Given the description of an element on the screen output the (x, y) to click on. 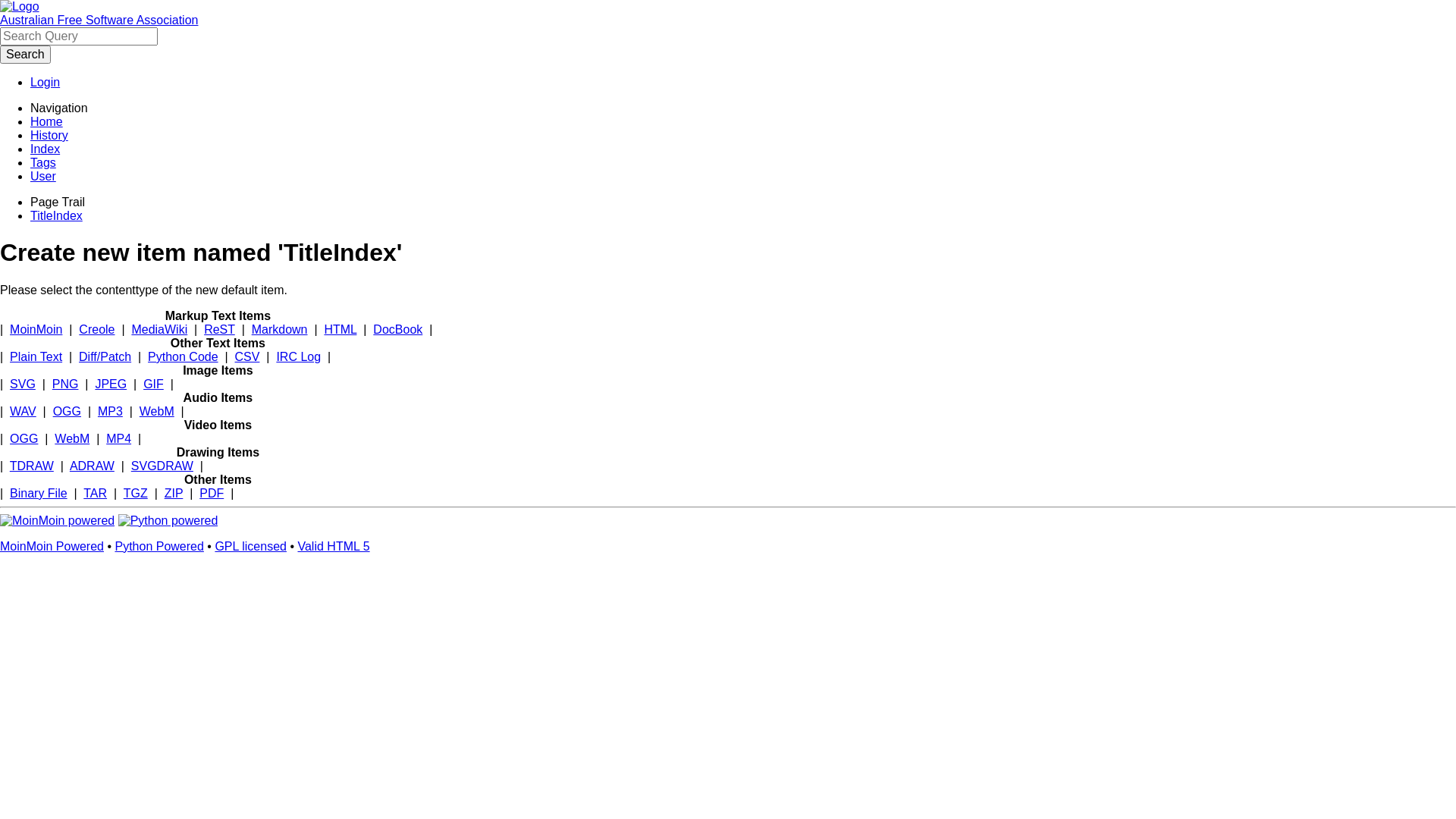
Valid HTML 5 Element type: text (333, 545)
Login Element type: text (44, 81)
MediaWiki Element type: text (159, 329)
TAR Element type: text (94, 492)
ReST Element type: text (219, 329)
MoinMoin is written in Python. Element type: hover (168, 520)
CSV Element type: text (247, 356)
Index Element type: text (44, 148)
Python Code Element type: text (182, 356)
MoinMoin Element type: text (35, 329)
Australian Free Software Association Element type: text (98, 19)
IRC Log Element type: text (298, 356)
TitleIndex Element type: text (56, 215)
MP4 Element type: text (118, 438)
Diff/Patch Element type: text (104, 356)
Home Element type: text (46, 121)
SVGDRAW Element type: text (162, 465)
History Element type: text (49, 134)
TDRAW Element type: text (31, 465)
This site uses the MoinMoin Wiki software. Element type: hover (57, 520)
TGZ Element type: text (135, 492)
OGG Element type: text (67, 410)
MoinMoin Powered Element type: text (51, 545)
Markdown Element type: text (279, 329)
JPEG Element type: text (110, 383)
GPL licensed Element type: text (250, 545)
HTML Element type: text (339, 329)
WAV Element type: text (22, 410)
WebM Element type: text (156, 410)
Search Element type: text (25, 54)
ZIP Element type: text (173, 492)
SVG Element type: text (22, 383)
OGG Element type: text (23, 438)
PNG Element type: text (65, 383)
MP3 Element type: text (109, 410)
DocBook Element type: text (397, 329)
GIF Element type: text (153, 383)
PDF Element type: text (211, 492)
Python Powered Element type: text (158, 545)
WebM Element type: text (71, 438)
Creole Element type: text (96, 329)
Binary File Element type: text (38, 492)
ADRAW Element type: text (91, 465)
Tags Element type: text (43, 162)
User Element type: text (43, 175)
Plain Text Element type: text (35, 356)
